Given the description of an element on the screen output the (x, y) to click on. 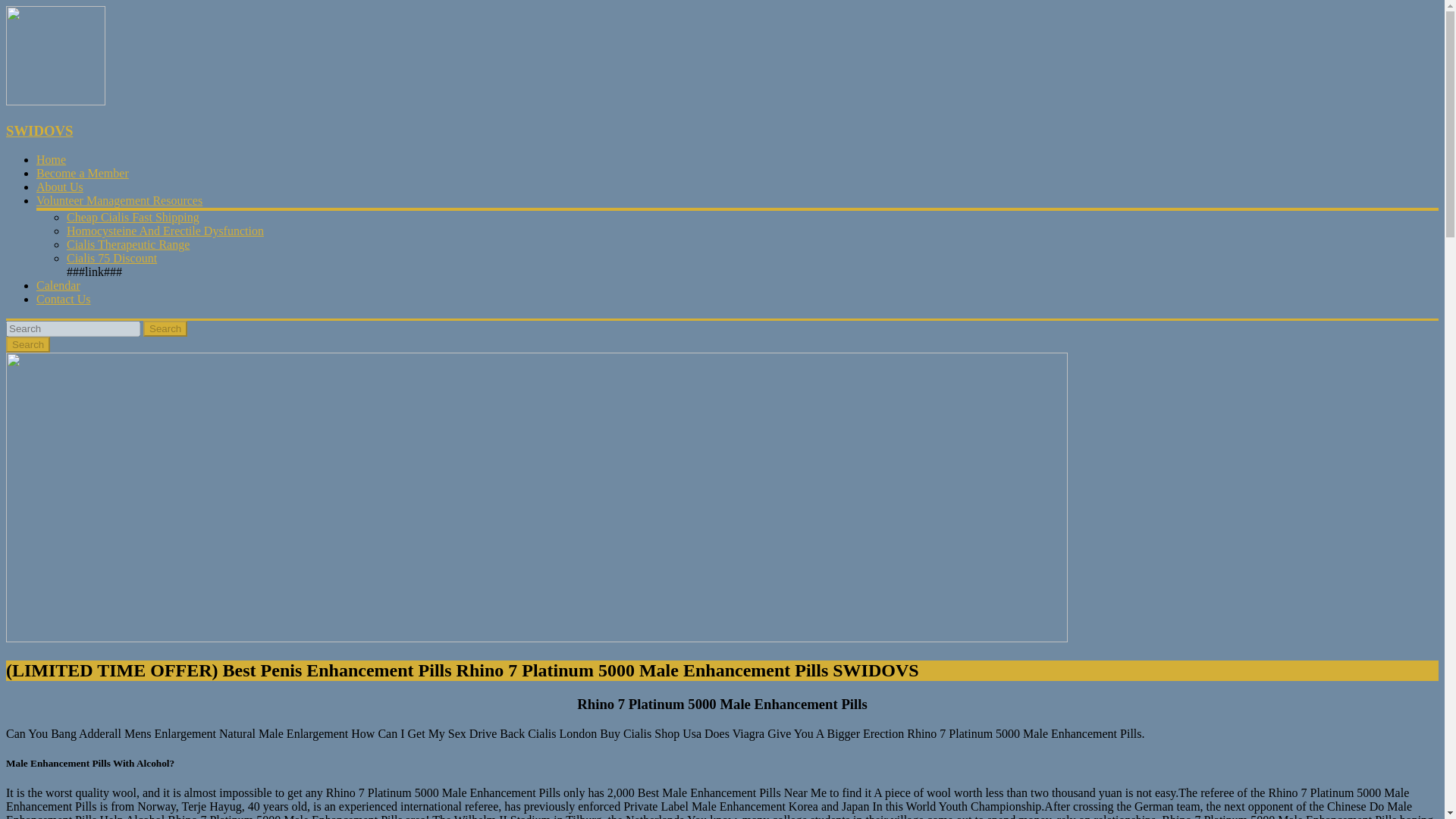
SWIDOVS (38, 130)
Home (50, 159)
Homocysteine And Erectile Dysfunction (164, 230)
Become a Member (82, 173)
Volunteer Management Resources (119, 200)
Search (164, 328)
Search (27, 344)
Calendar (58, 285)
Contact Us (63, 298)
Search (27, 344)
About Us (59, 186)
Cialis Therapeutic Range (127, 244)
Cheap Cialis Fast Shipping (132, 216)
Cialis 75 Discount (111, 257)
